Given the description of an element on the screen output the (x, y) to click on. 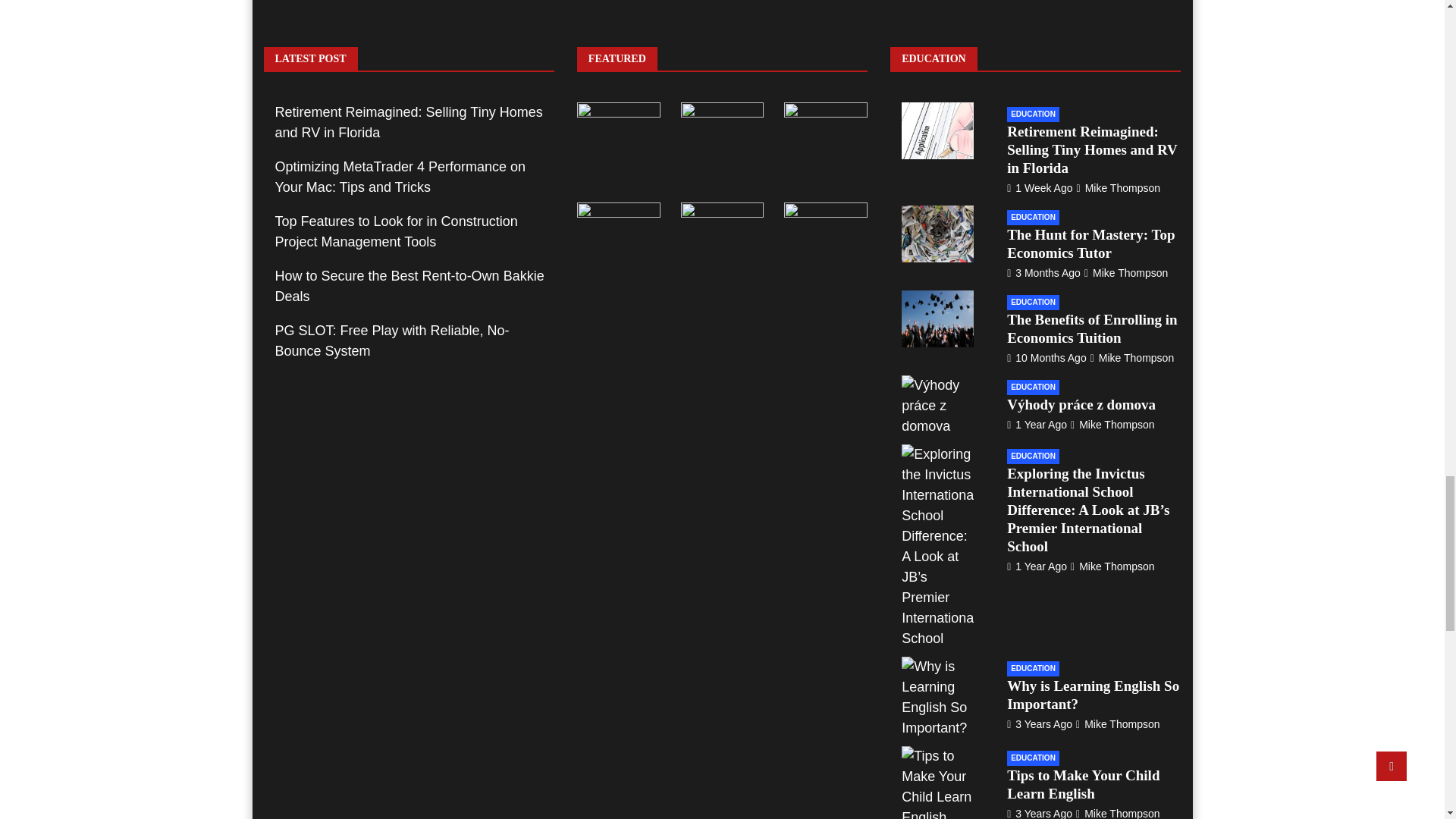
The Benefits of Enrolling in Economics Tuition (1046, 357)
The Hunt for Mastery: Top Economics Tutor (1043, 272)
Why is Learning English So Important? (1039, 723)
Retirement Reimagined: Selling Tiny Homes and RV in Florida (1039, 187)
Tips to Make Your Child Learn English (1039, 812)
